Given the description of an element on the screen output the (x, y) to click on. 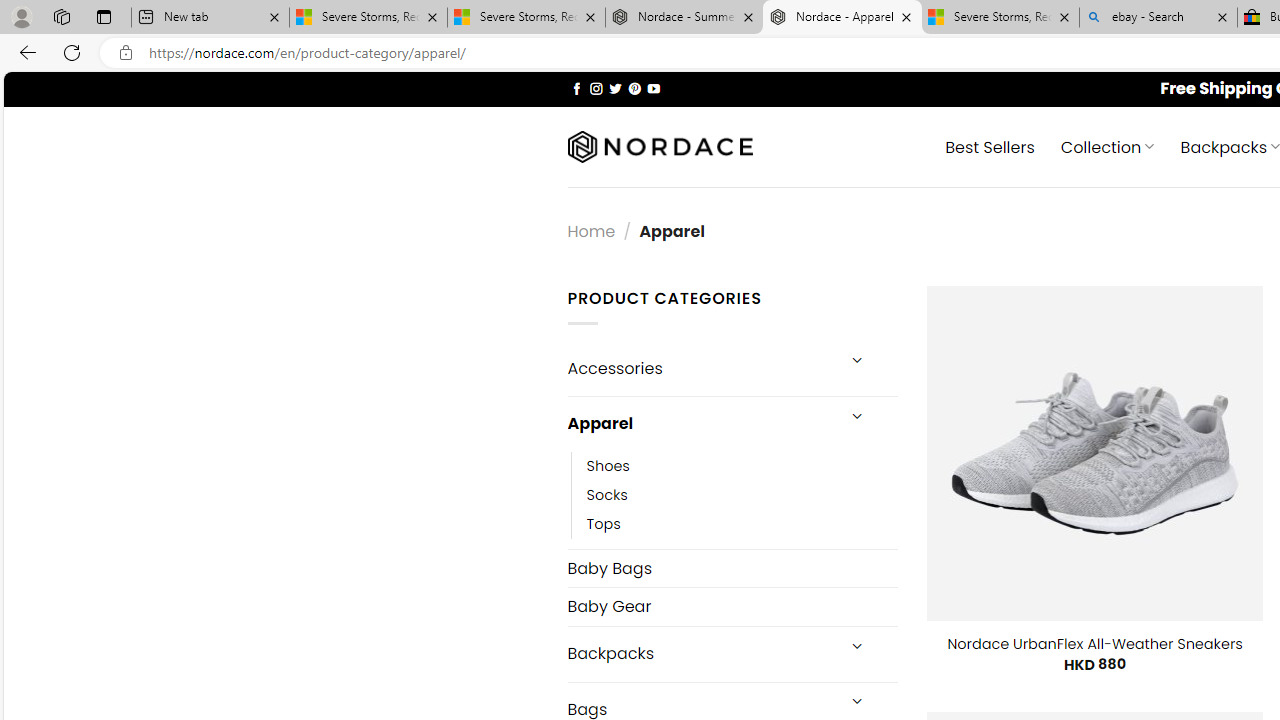
Follow on Instagram (596, 88)
Follow on Facebook (576, 88)
Follow on Twitter (615, 88)
Nordace - Apparel (842, 17)
Baby Gear (732, 606)
Apparel (700, 423)
Baby Bags (732, 568)
Shoes (742, 465)
  Best Sellers (989, 146)
